Given the description of an element on the screen output the (x, y) to click on. 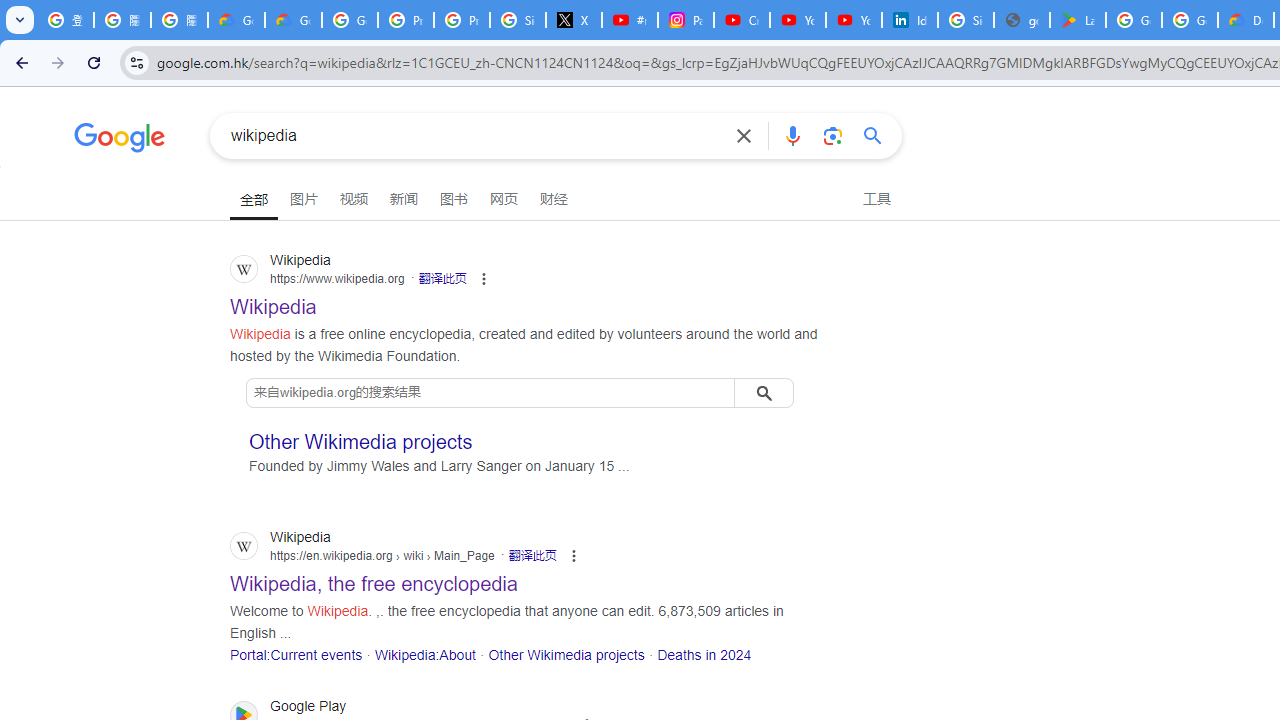
Other Wikimedia projects (566, 654)
google_privacy_policy_en.pdf (1021, 20)
Sign in - Google Accounts (518, 20)
Portal:Current events (296, 654)
